Given the description of an element on the screen output the (x, y) to click on. 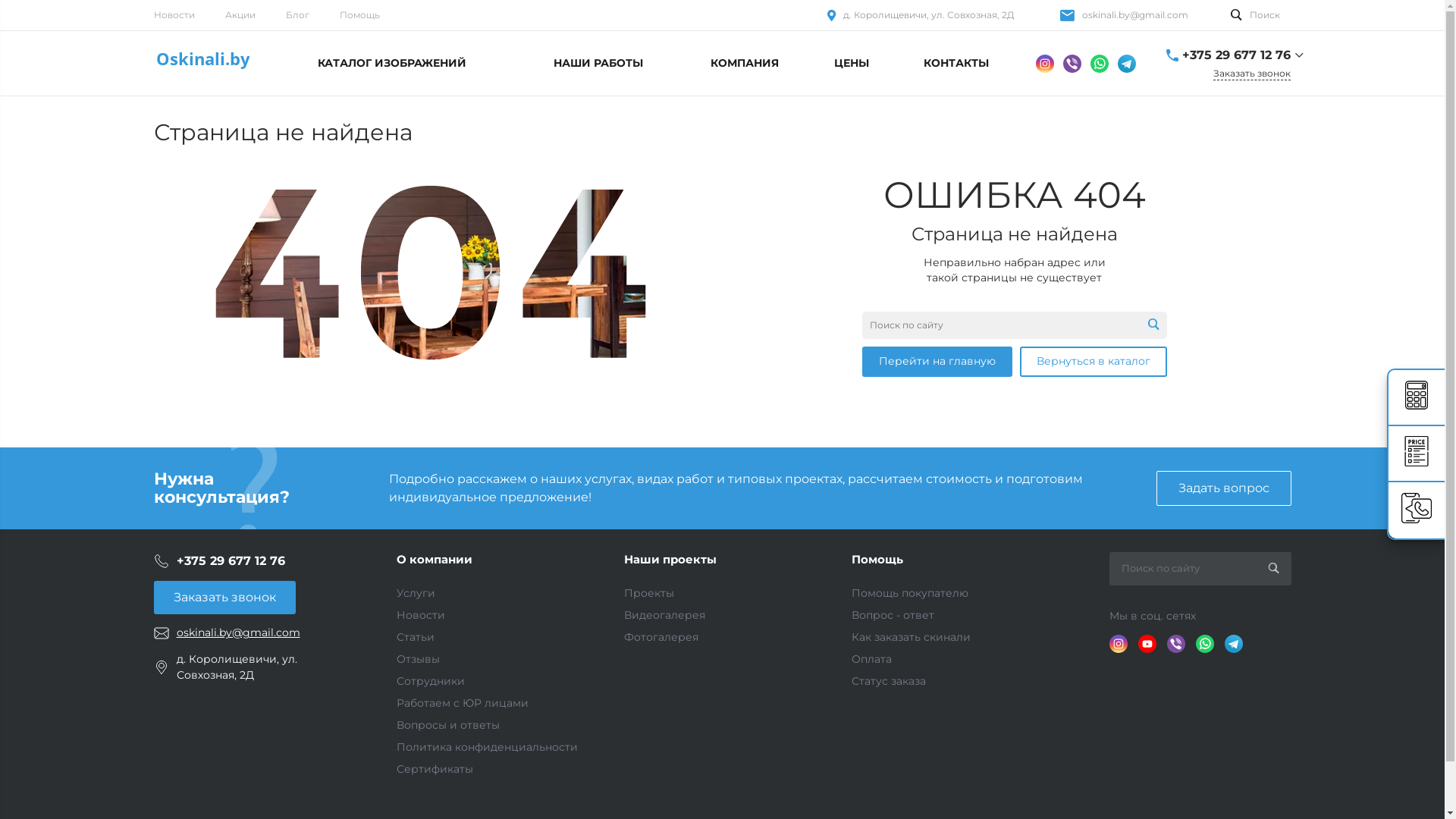
oskinali.by@gmail.com Element type: text (237, 632)
+375 29 677 12 76 Element type: text (1235, 55)
+375 29 677 12 76 Element type: text (229, 560)
oskinali.by@gmail.com Element type: text (1134, 14)
